Given the description of an element on the screen output the (x, y) to click on. 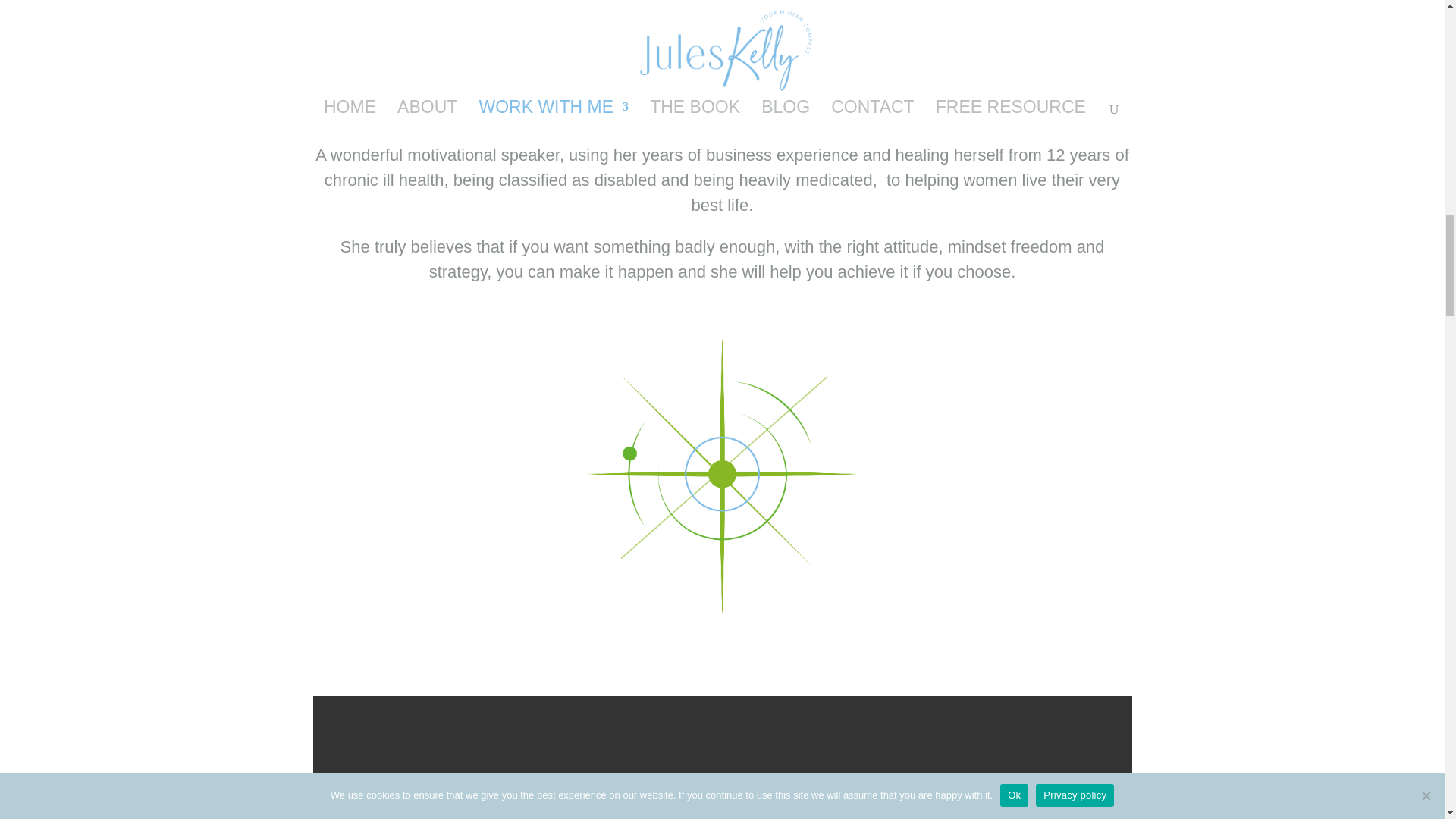
Logo-12 (722, 476)
